Given the description of an element on the screen output the (x, y) to click on. 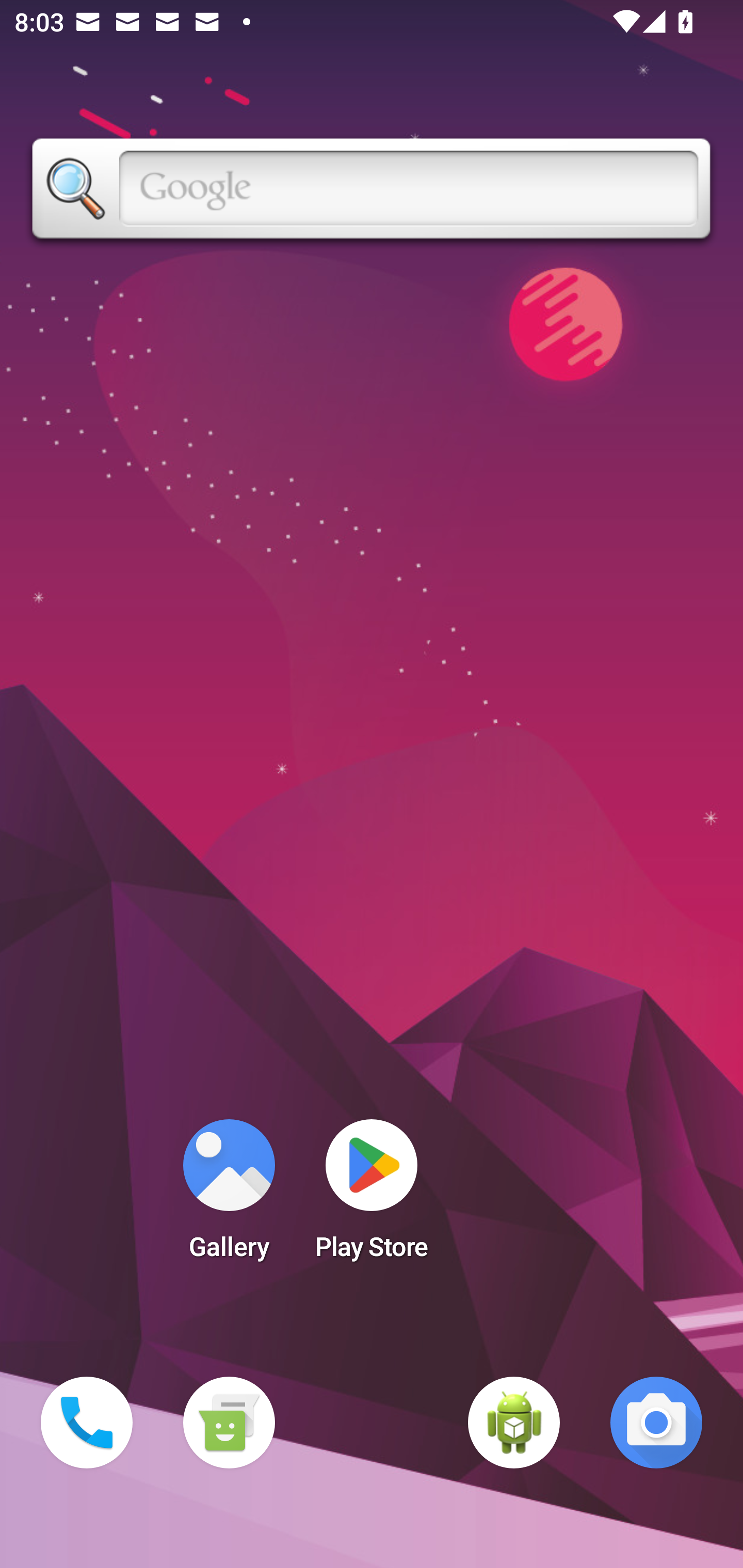
Gallery (228, 1195)
Play Store (371, 1195)
Phone (86, 1422)
Messaging (228, 1422)
WebView Browser Tester (513, 1422)
Camera (656, 1422)
